Given the description of an element on the screen output the (x, y) to click on. 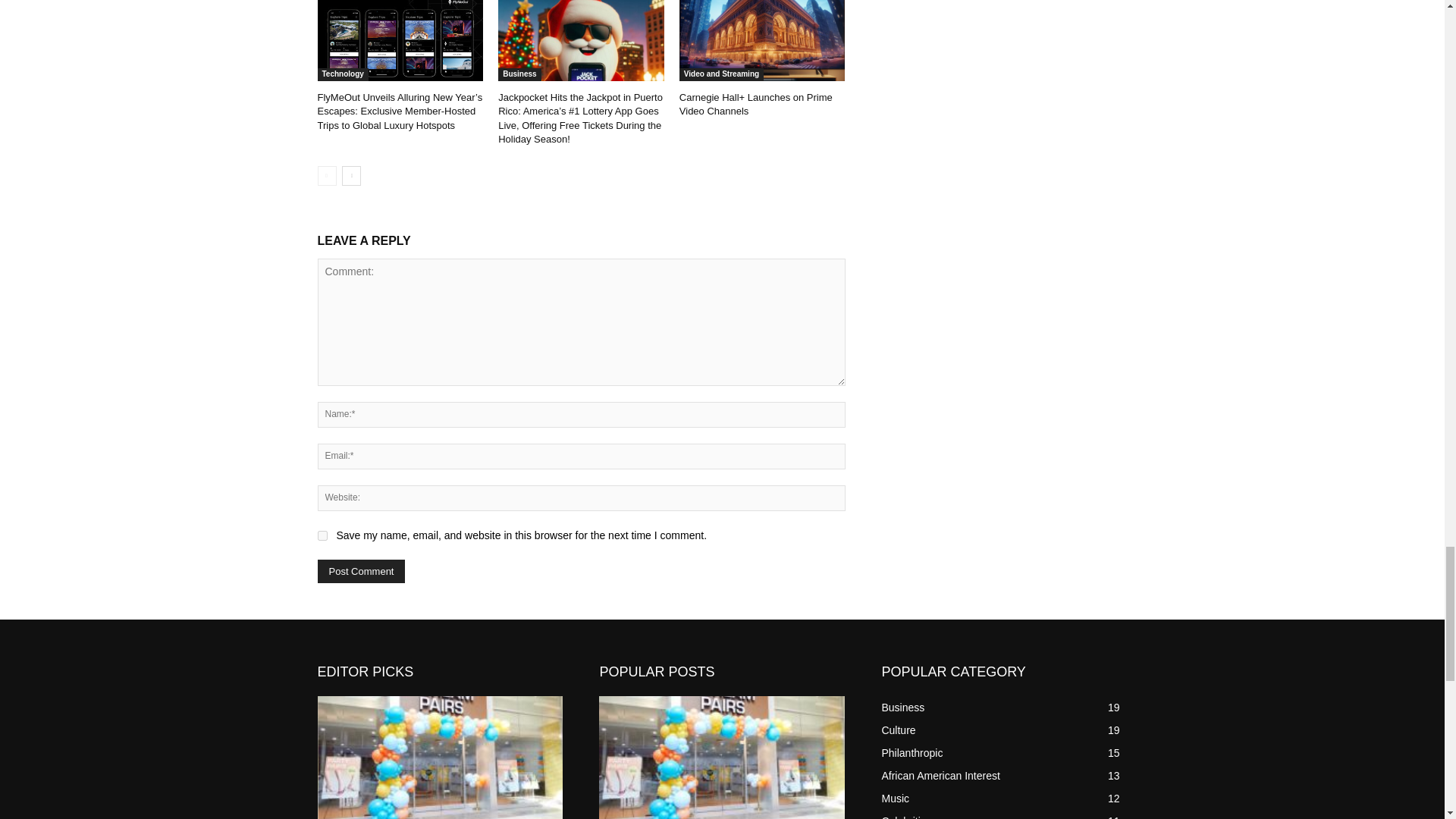
Post Comment (360, 571)
yes (321, 535)
